Given the description of an element on the screen output the (x, y) to click on. 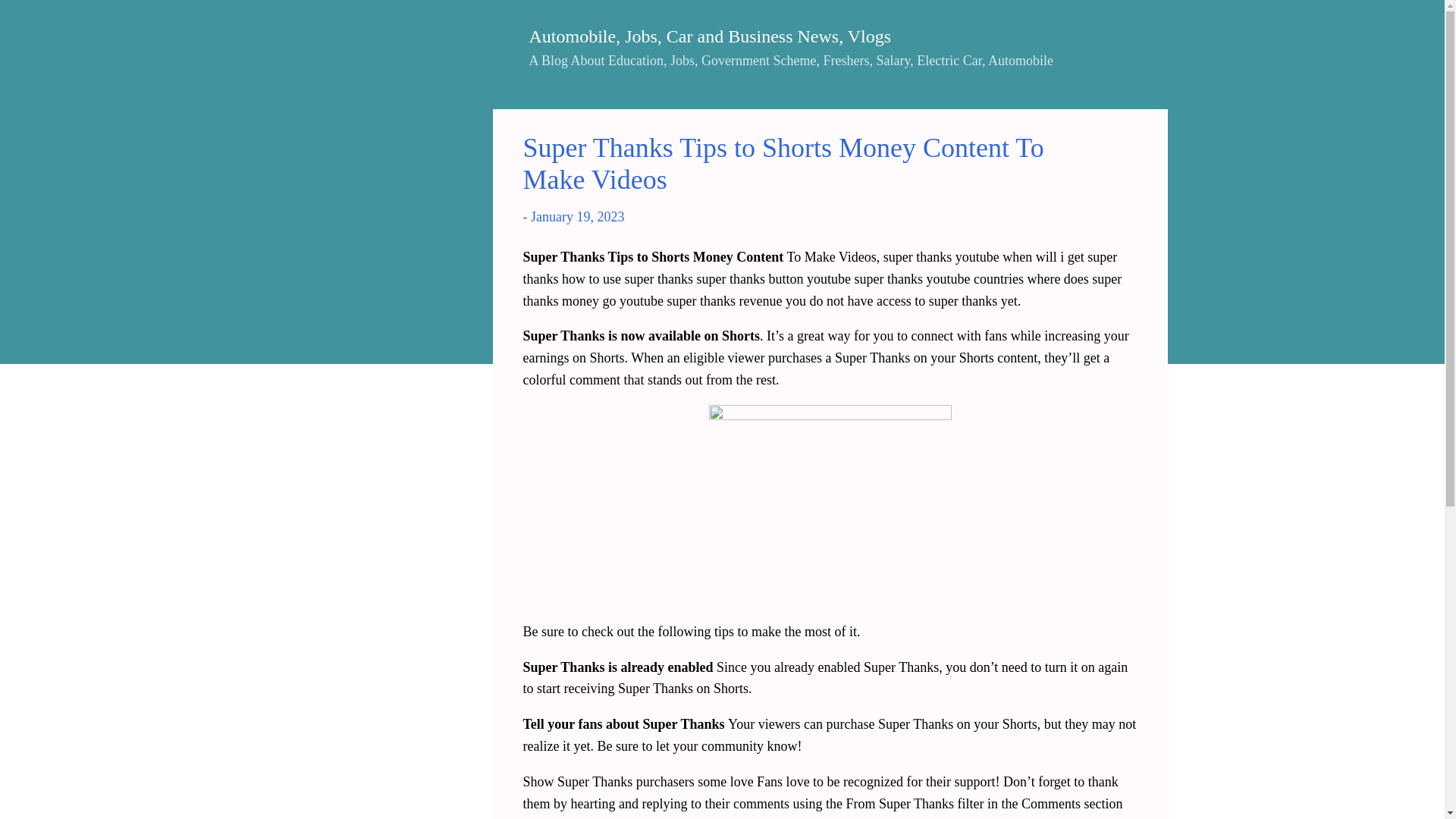
Search (34, 18)
permanent link (577, 216)
Automobile, Jobs, Car and Business News, Vlogs (710, 35)
January 19, 2023 (577, 216)
